Given the description of an element on the screen output the (x, y) to click on. 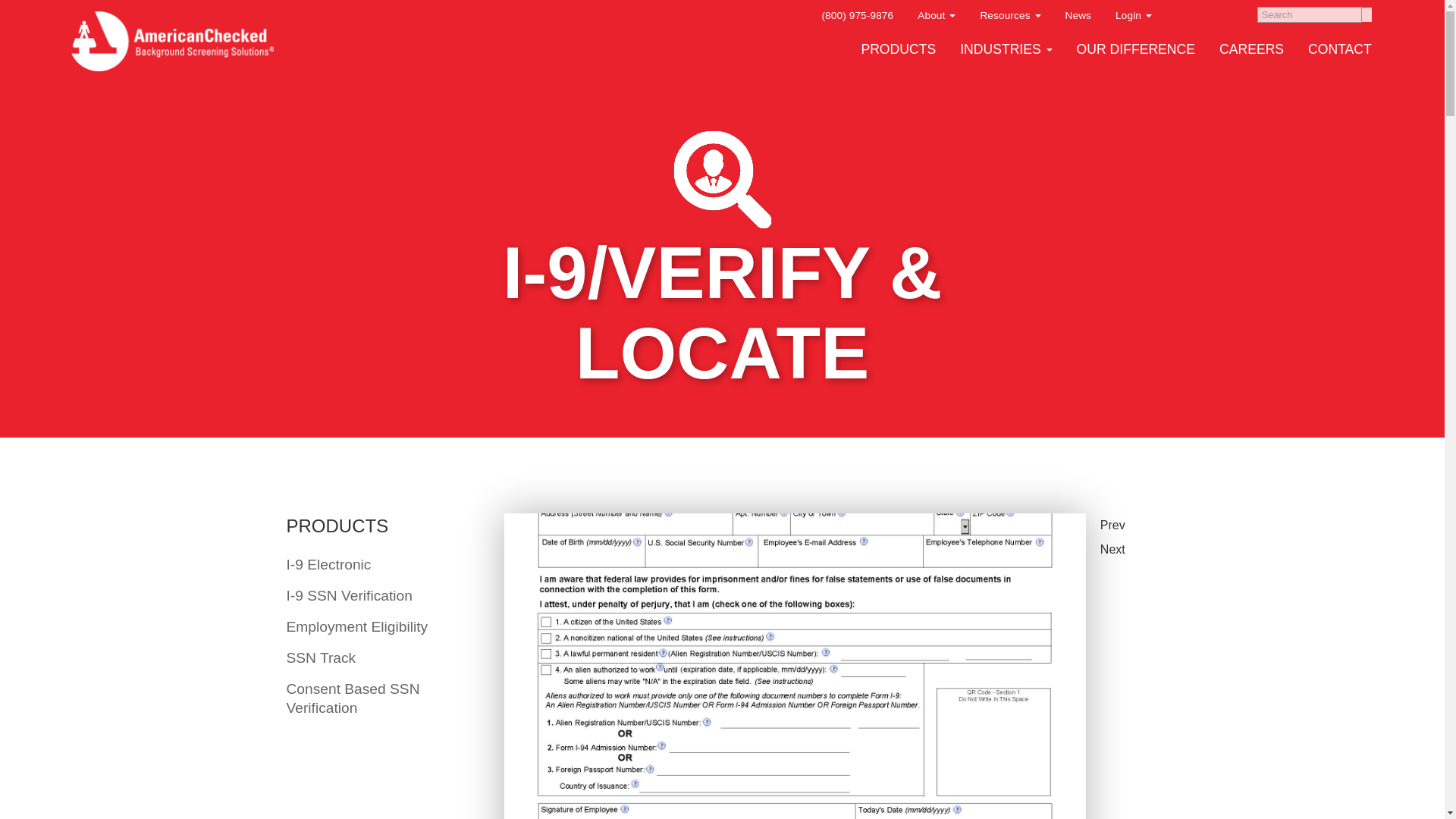
About (936, 16)
AmericanChecked Logo (170, 41)
Resources (1010, 16)
Next (1119, 549)
Login (1133, 16)
Prev (1119, 524)
News (1077, 15)
